Given the description of an element on the screen output the (x, y) to click on. 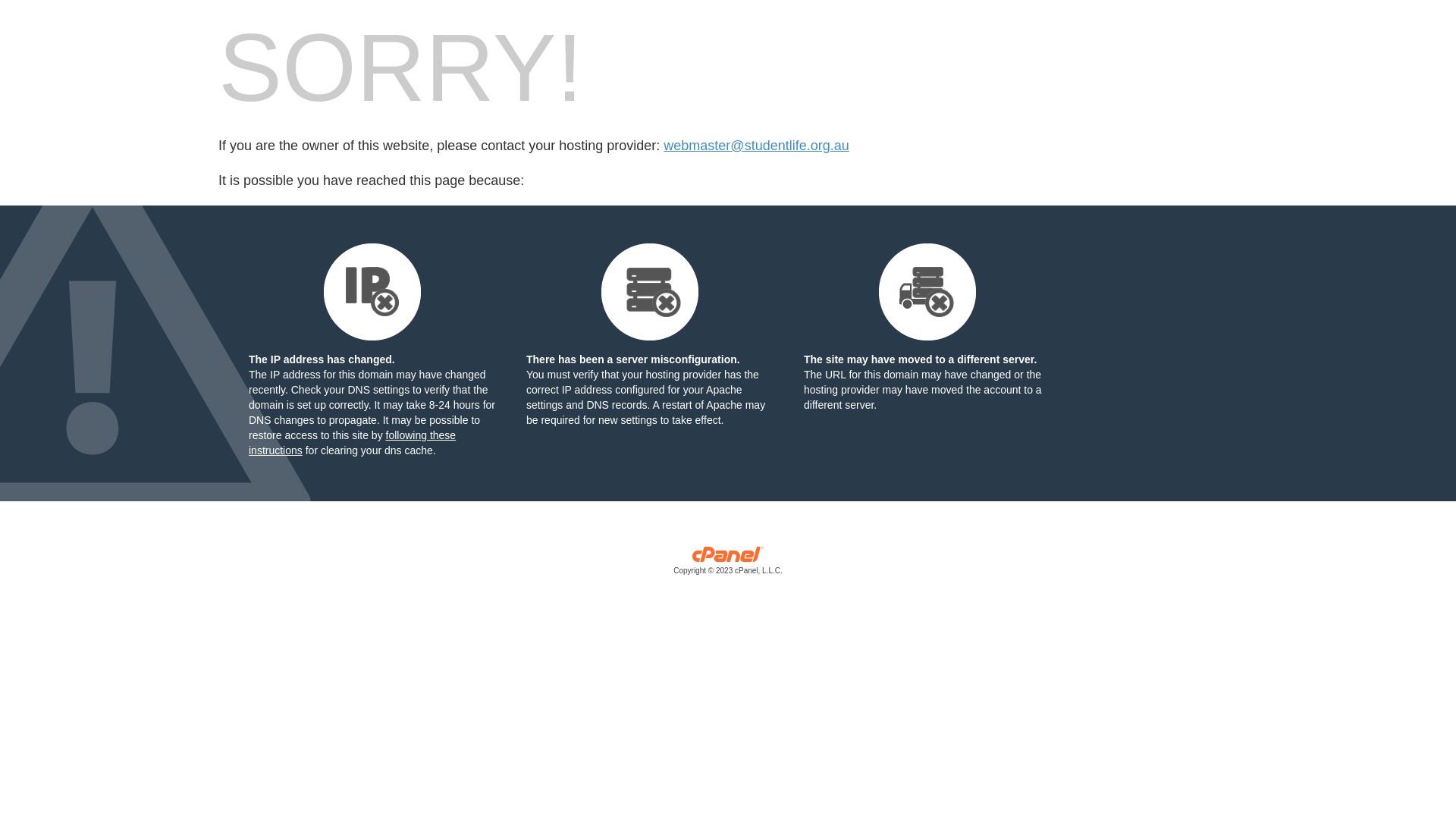
following these instructions Element type: text (351, 442)
webmaster@studentlife.org.au Element type: text (755, 145)
